Given the description of an element on the screen output the (x, y) to click on. 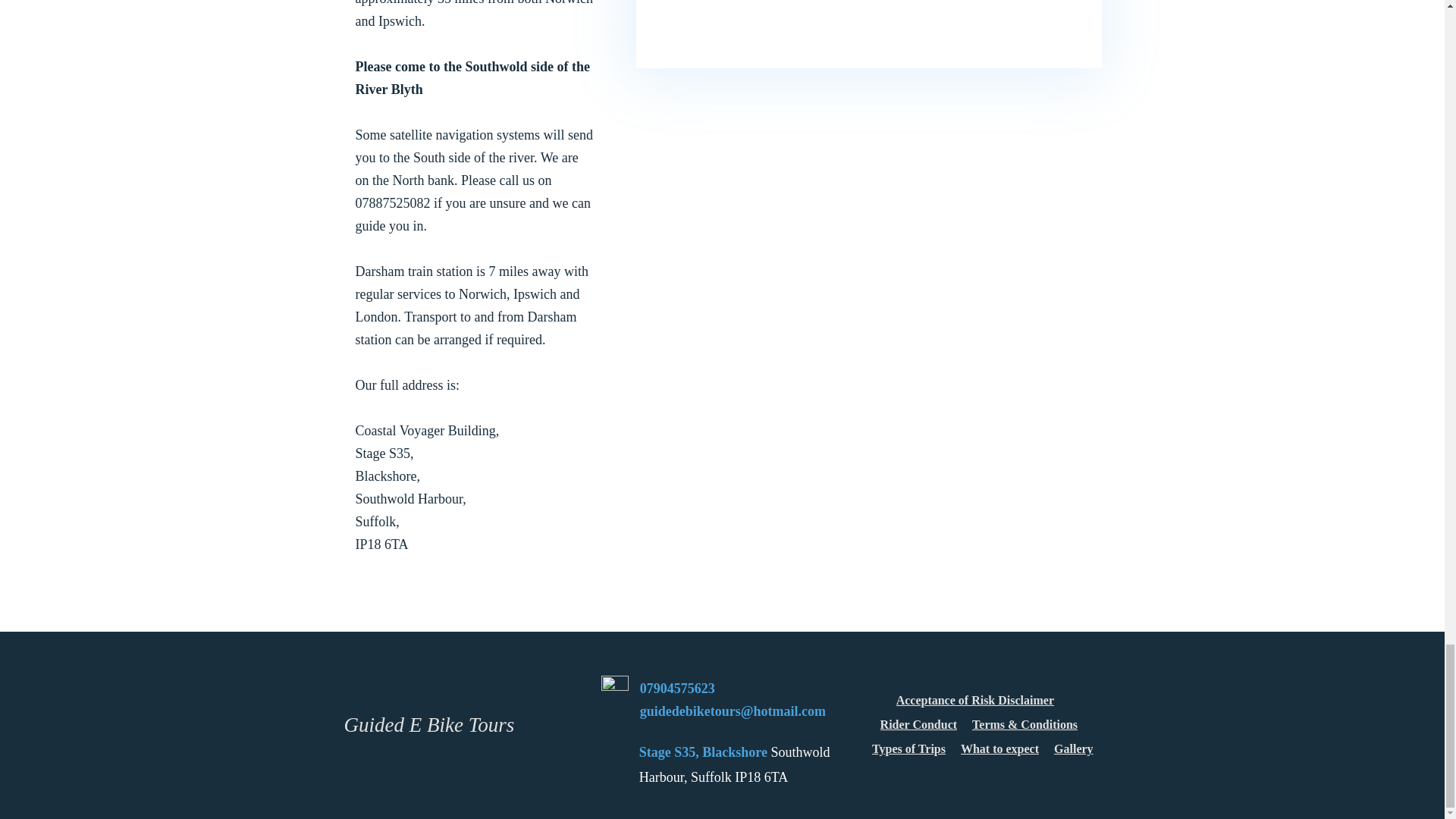
phone (614, 688)
What to expect (999, 749)
Gallery (1073, 749)
Acceptance of Risk Disclaimer (975, 700)
Rider Conduct (919, 724)
Types of Trips (908, 749)
